Given the description of an element on the screen output the (x, y) to click on. 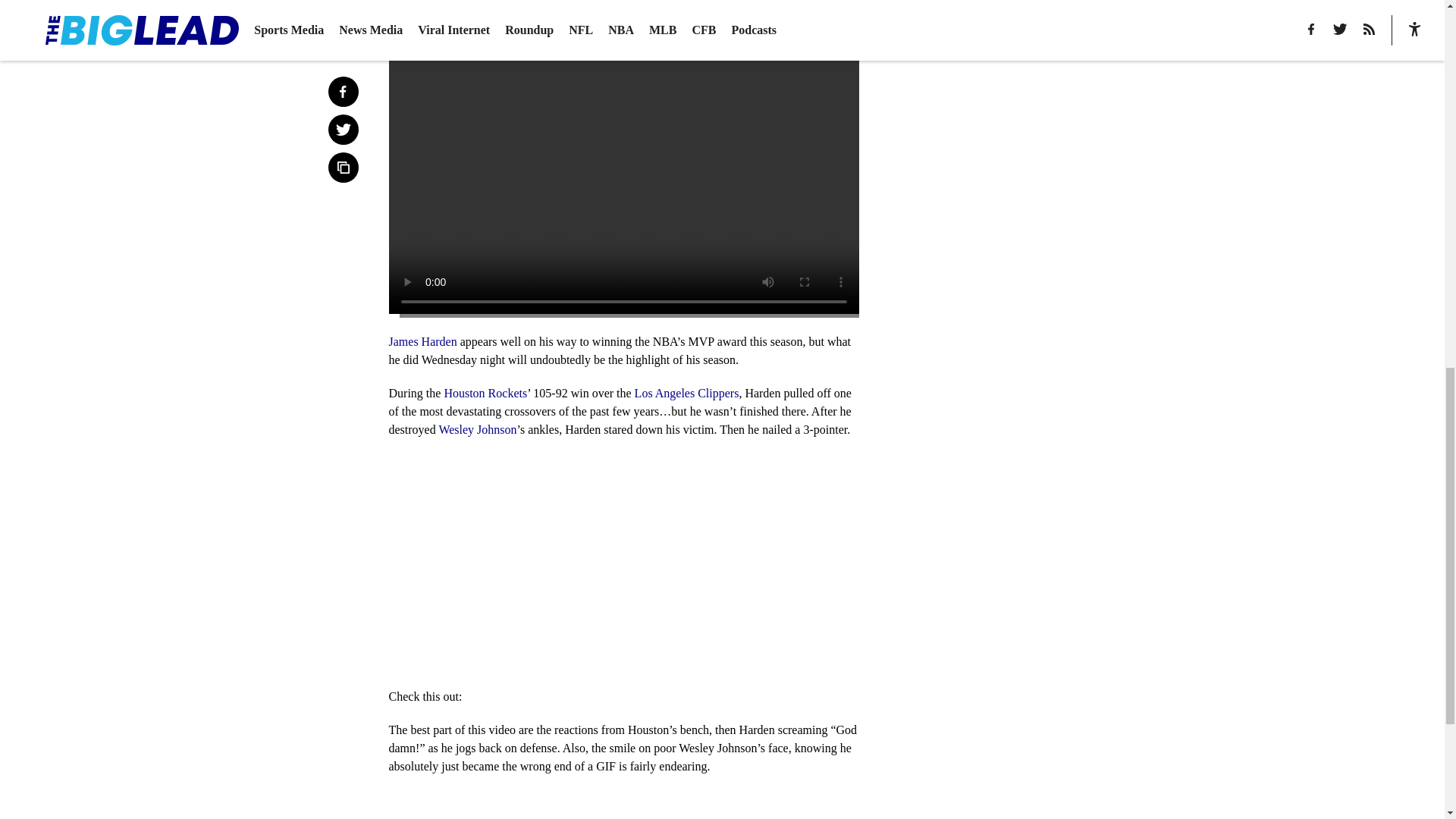
Houston Rockets (485, 392)
Wesley Johnson (477, 429)
James Harden (422, 341)
Los Angeles Clippers (686, 392)
